Given the description of an element on the screen output the (x, y) to click on. 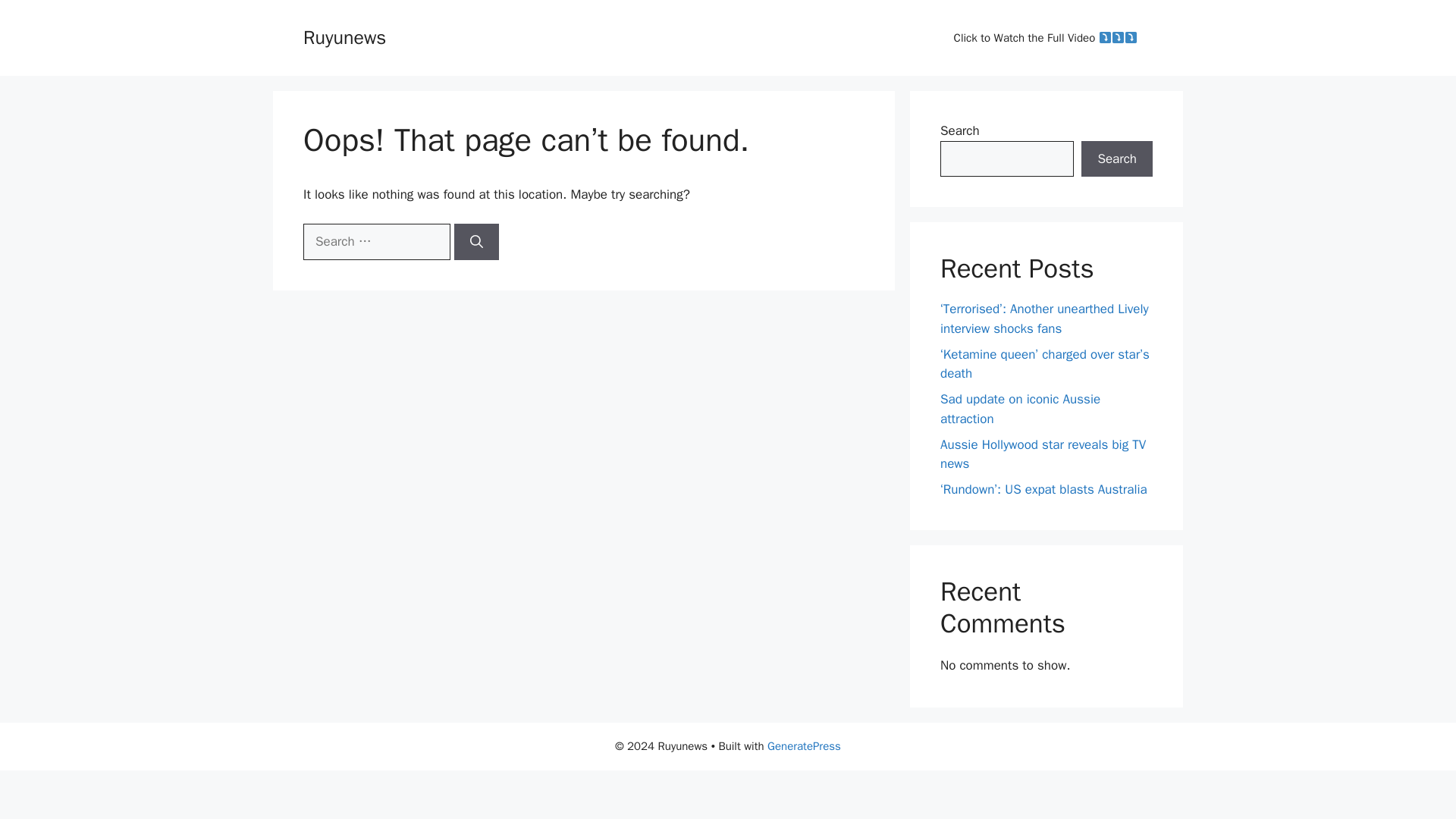
Search (1117, 158)
Sad update on iconic Aussie attraction (1020, 408)
Click to Watch the Full Video (1046, 37)
Aussie Hollywood star reveals big TV news (1042, 454)
Search for: (375, 241)
GeneratePress (804, 745)
Ruyunews (343, 37)
